Given the description of an element on the screen output the (x, y) to click on. 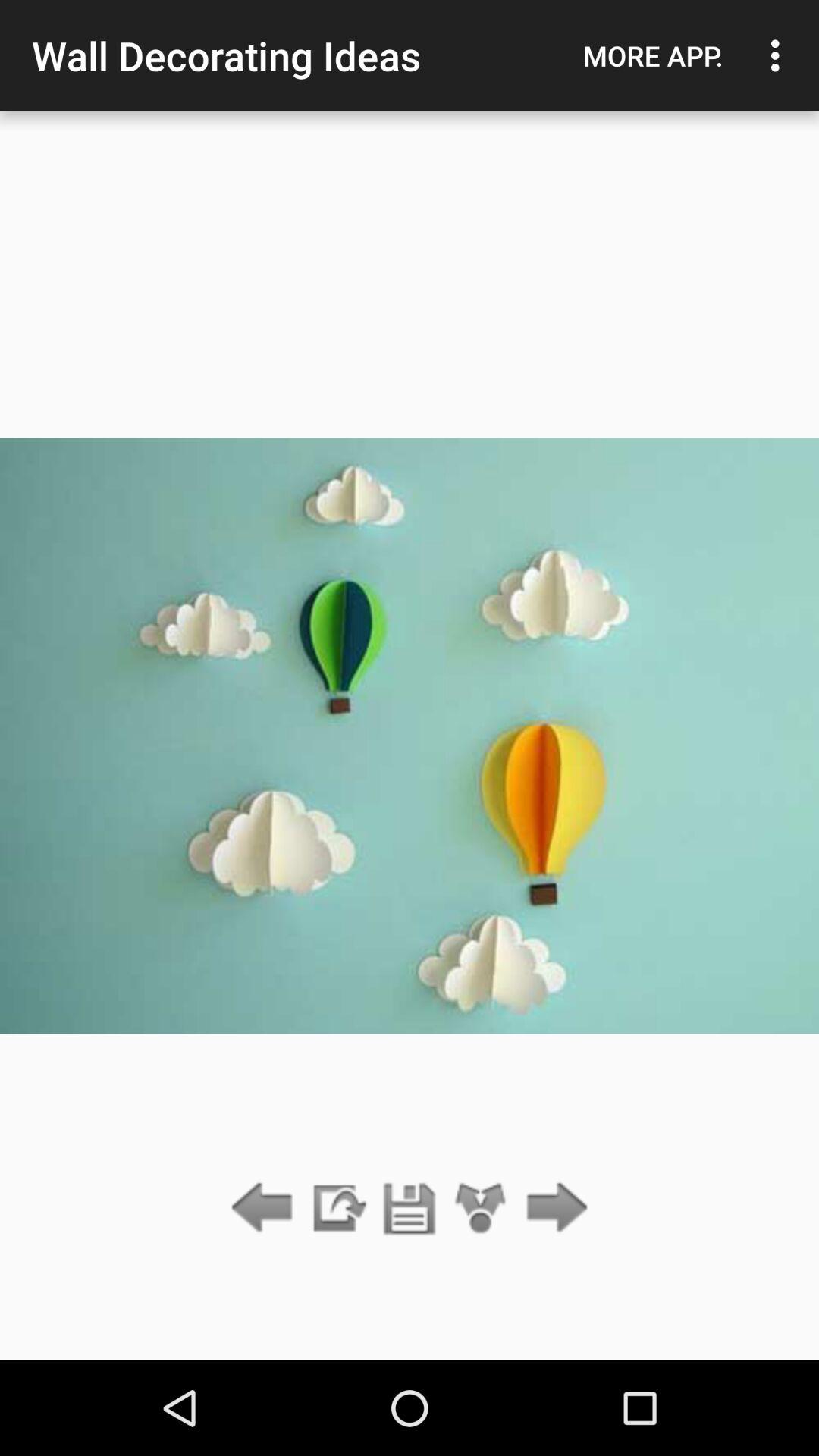
click the item to the right of more app. item (779, 55)
